Given the description of an element on the screen output the (x, y) to click on. 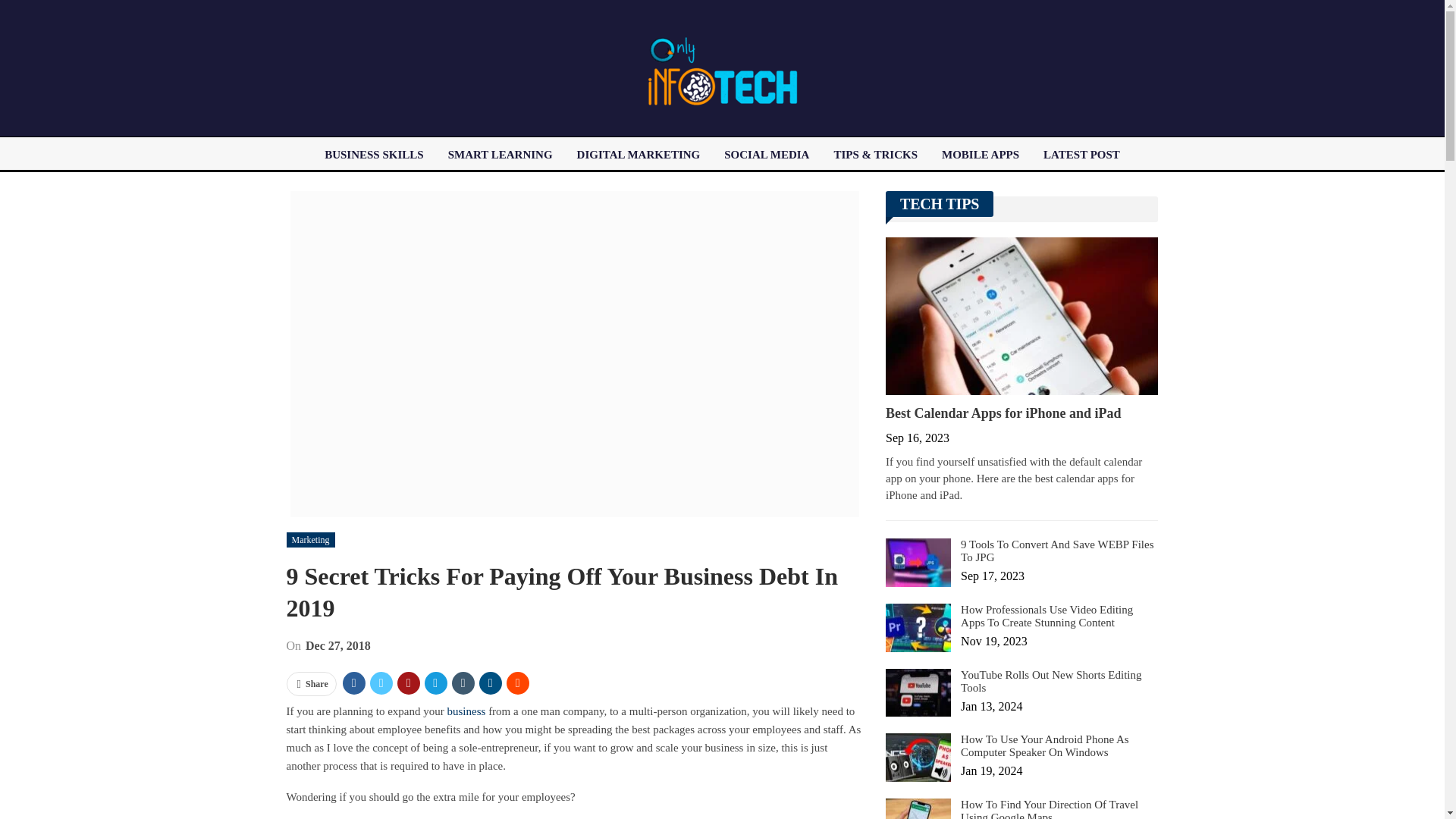
9 Tools to Convert and Save WEBP Files to JPG (917, 562)
Best Calendar Apps for iPhone and iPad (1021, 315)
SMART LEARNING (500, 154)
business (466, 711)
MOBILE APPS (980, 154)
Posts tagged with Business (466, 711)
How to Use Your Android phone as Computer Speaker on Windows (917, 757)
LATEST POST (1081, 154)
How to Find Your Direction of Travel Using Google Maps (917, 808)
